Given the description of an element on the screen output the (x, y) to click on. 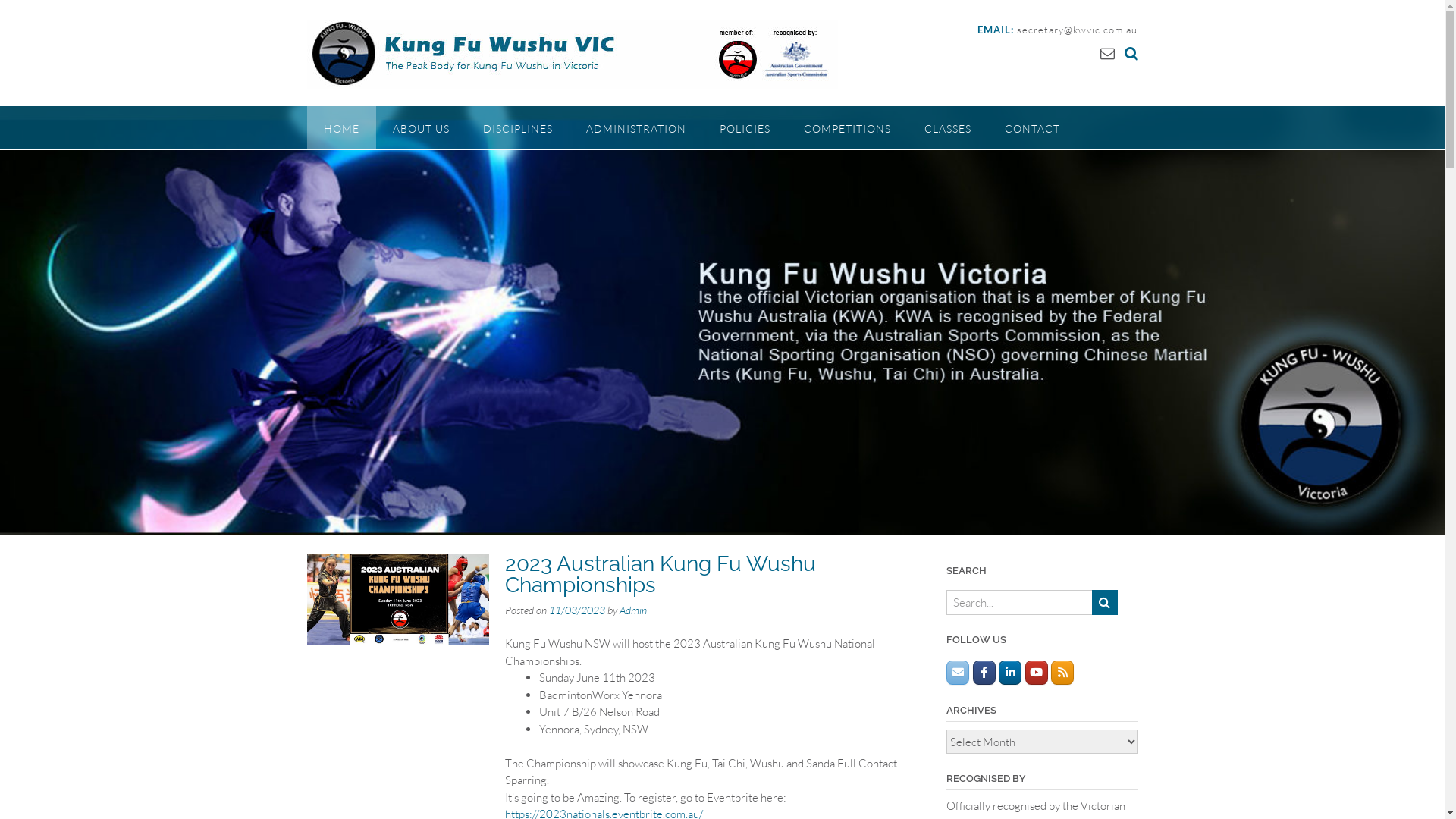
Admin Element type: text (632, 609)
Kung Fu Wushu VIC on Rss Element type: hover (1062, 672)
POLICIES Element type: text (744, 127)
Kung Fu Wushu VIC on Envelope Element type: hover (957, 672)
Search for: Element type: hover (1019, 602)
Kung Fu Wushu VIC on Youtube Element type: hover (1036, 672)
ABOUT US Element type: text (421, 127)
11/03/2023 Element type: text (577, 609)
Kung Fu Wushu VIC on Facebook Element type: hover (983, 672)
CLASSES Element type: text (946, 127)
COMPETITIONS Element type: text (847, 127)
Kung Fu Wushu VIC on Linkedin Element type: hover (1009, 672)
Send us an email Element type: hover (1106, 52)
ADMINISTRATION Element type: text (635, 127)
2023 Australian Kung Fu Wushu Championships Element type: text (660, 574)
DISCIPLINES Element type: text (516, 127)
CONTACT Element type: text (1031, 127)
HOME Element type: text (340, 127)
